Given the description of an element on the screen output the (x, y) to click on. 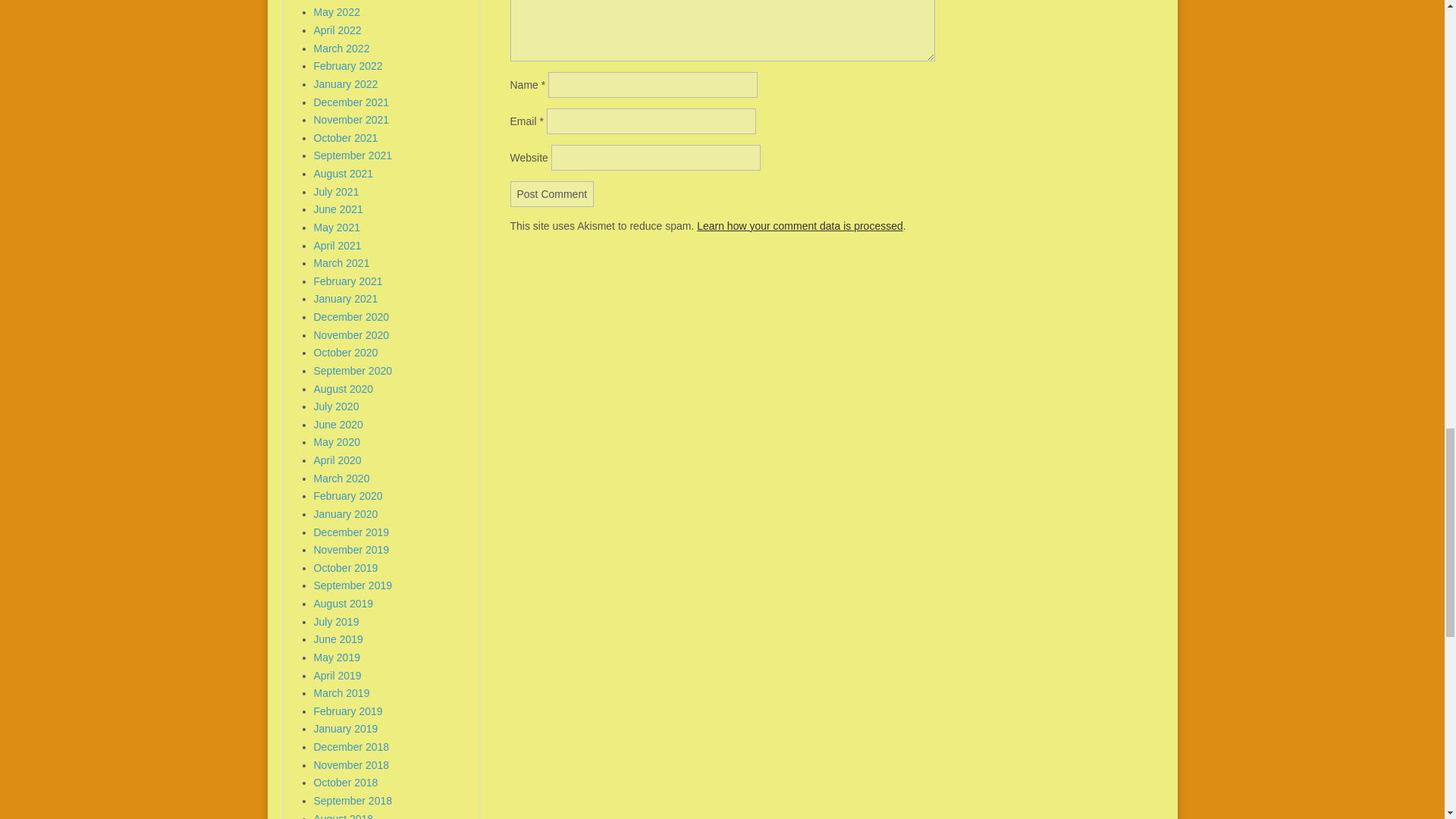
Learn how your comment data is processed (799, 225)
Post Comment (551, 193)
Post Comment (551, 193)
